Given the description of an element on the screen output the (x, y) to click on. 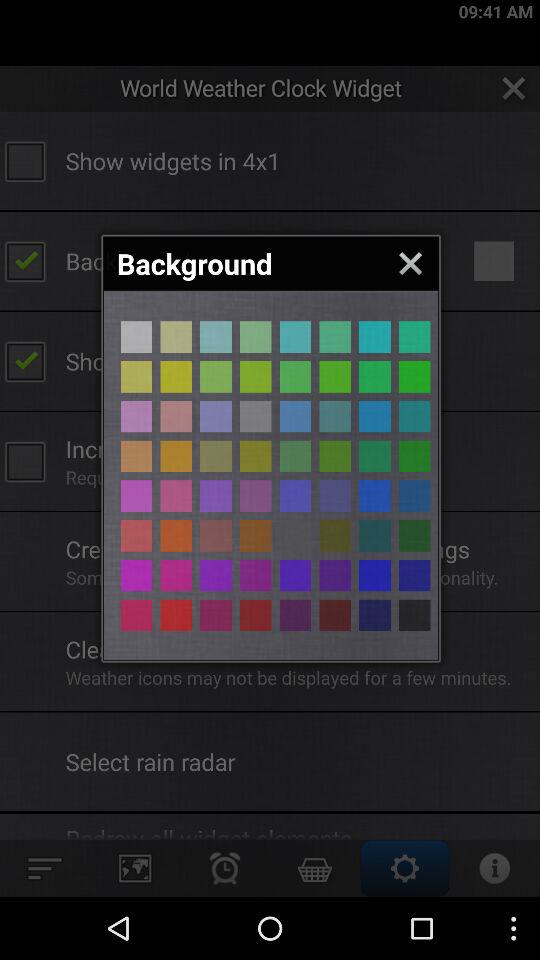
background color selection (374, 336)
